Given the description of an element on the screen output the (x, y) to click on. 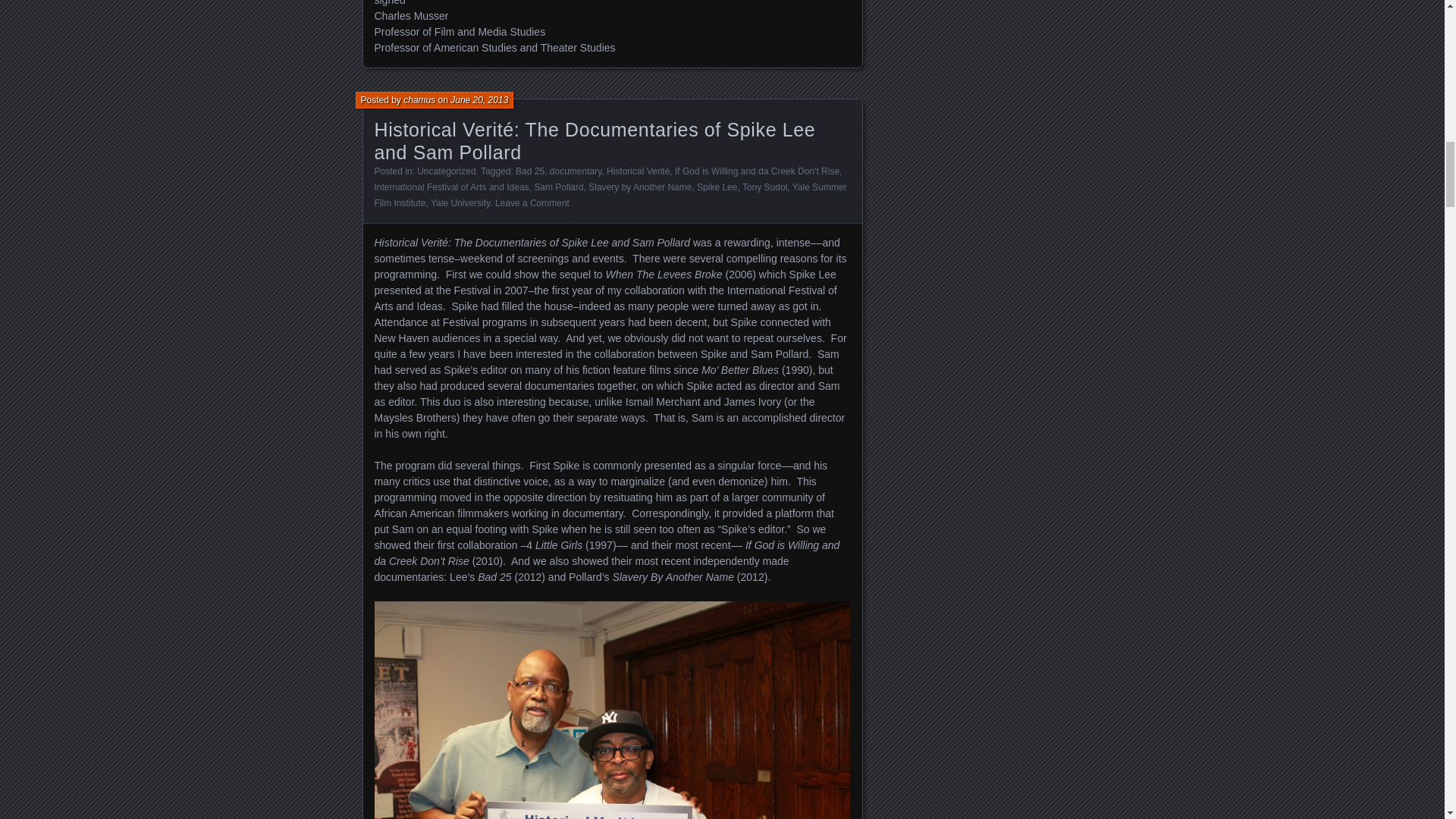
View all posts by chamus (419, 100)
chamus (419, 100)
